Given the description of an element on the screen output the (x, y) to click on. 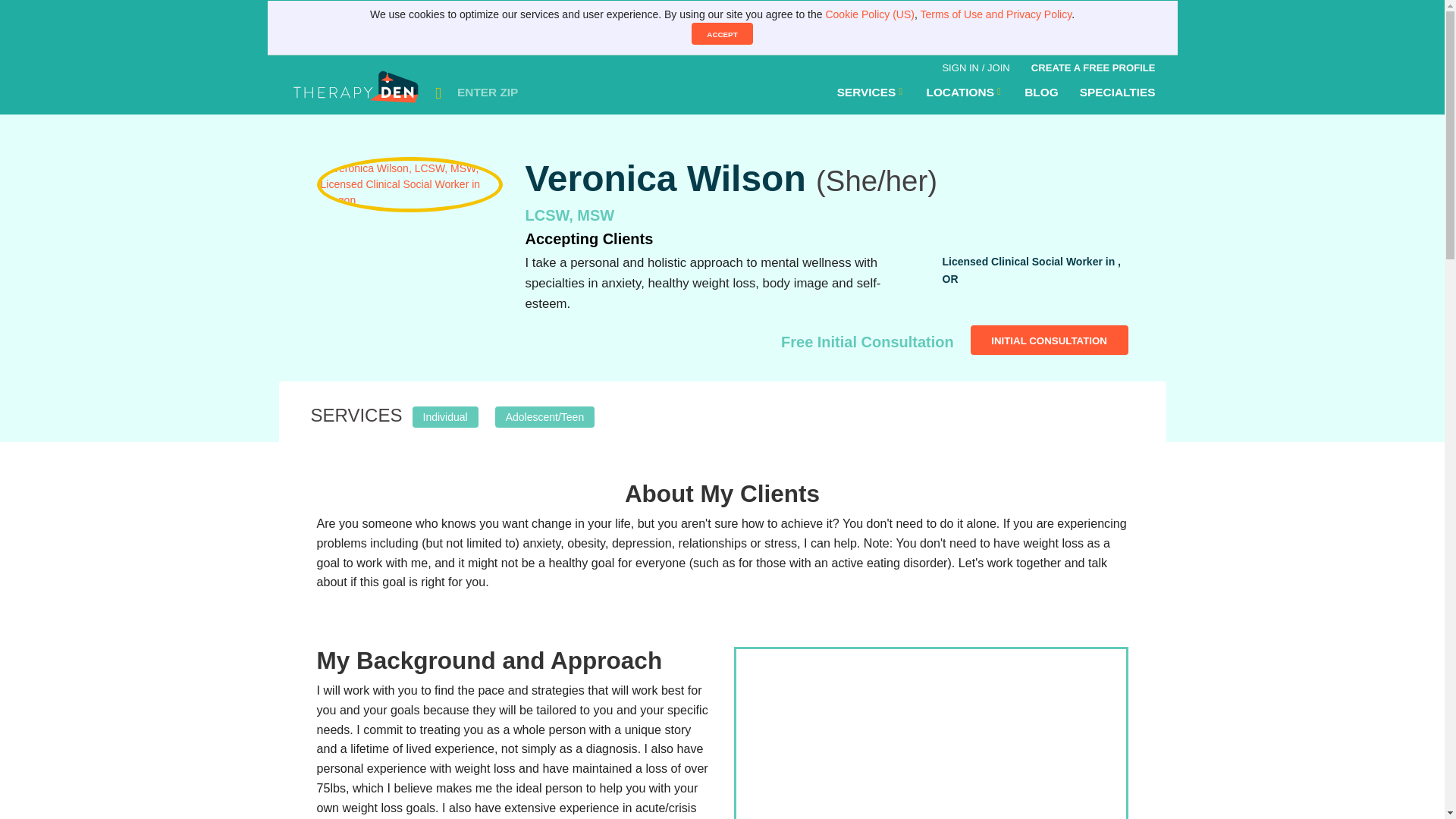
Individual (445, 414)
ACCEPT (721, 33)
Locations (964, 91)
INITIAL CONSULTATION (1049, 339)
LOCATIONS (964, 91)
Terms of Use and Privacy Policy (995, 14)
BLOG (1040, 91)
Veronica Wilson, LCSW, MSW (930, 734)
Locations (871, 91)
SPECIALTIES (1117, 91)
Blog (1040, 91)
TherapyDen Home (357, 92)
Send email to Veronica Wilson (1049, 339)
SERVICES (871, 91)
Specialties (1117, 91)
